Given the description of an element on the screen output the (x, y) to click on. 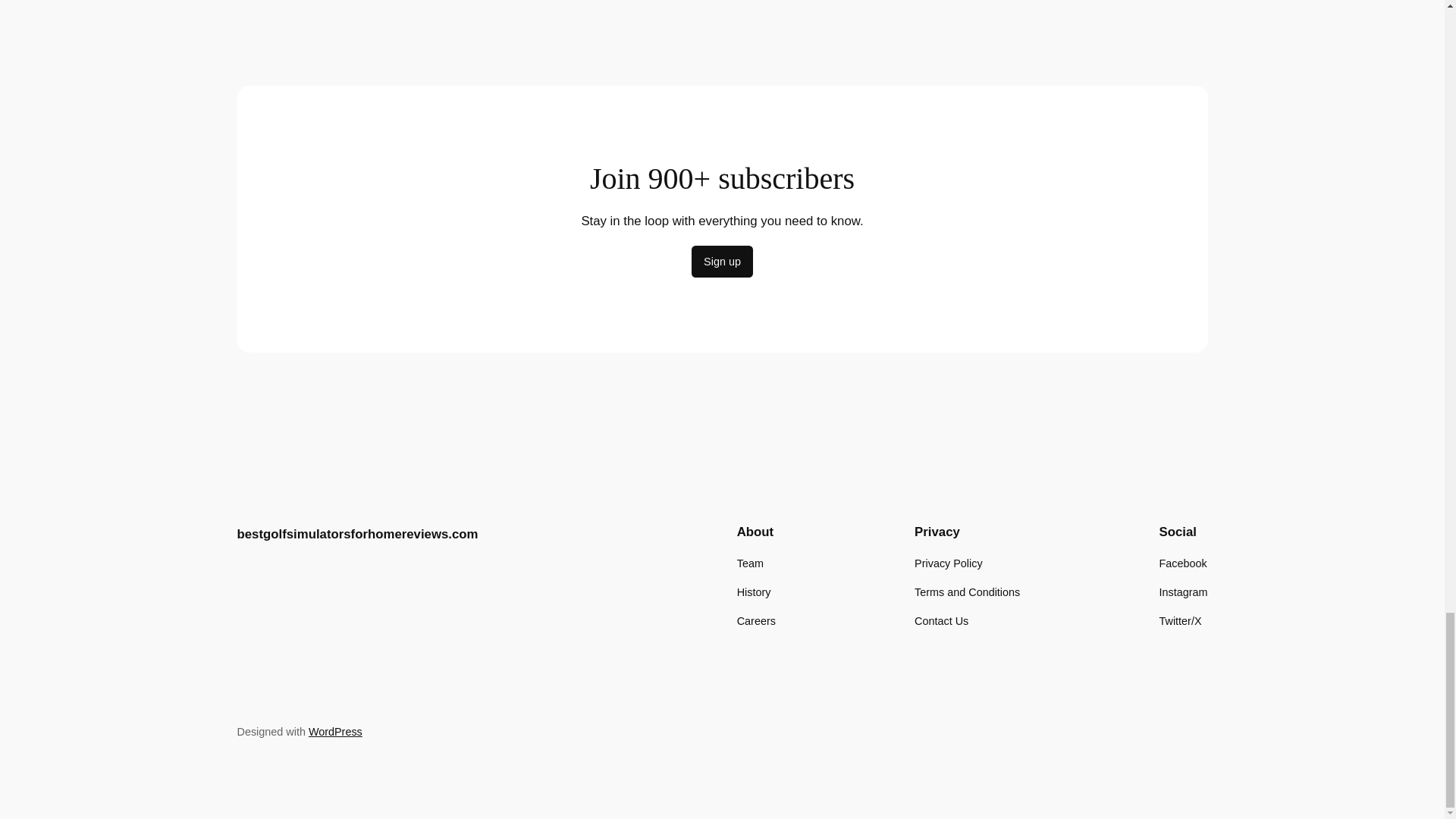
Sign up (721, 261)
History (753, 591)
Careers (756, 620)
Contact Us (941, 620)
Instagram (1182, 591)
Facebook (1182, 563)
Terms and Conditions (967, 591)
WordPress (335, 731)
bestgolfsimulatorsforhomereviews.com (356, 534)
Team (749, 563)
Privacy Policy (948, 563)
